Given the description of an element on the screen output the (x, y) to click on. 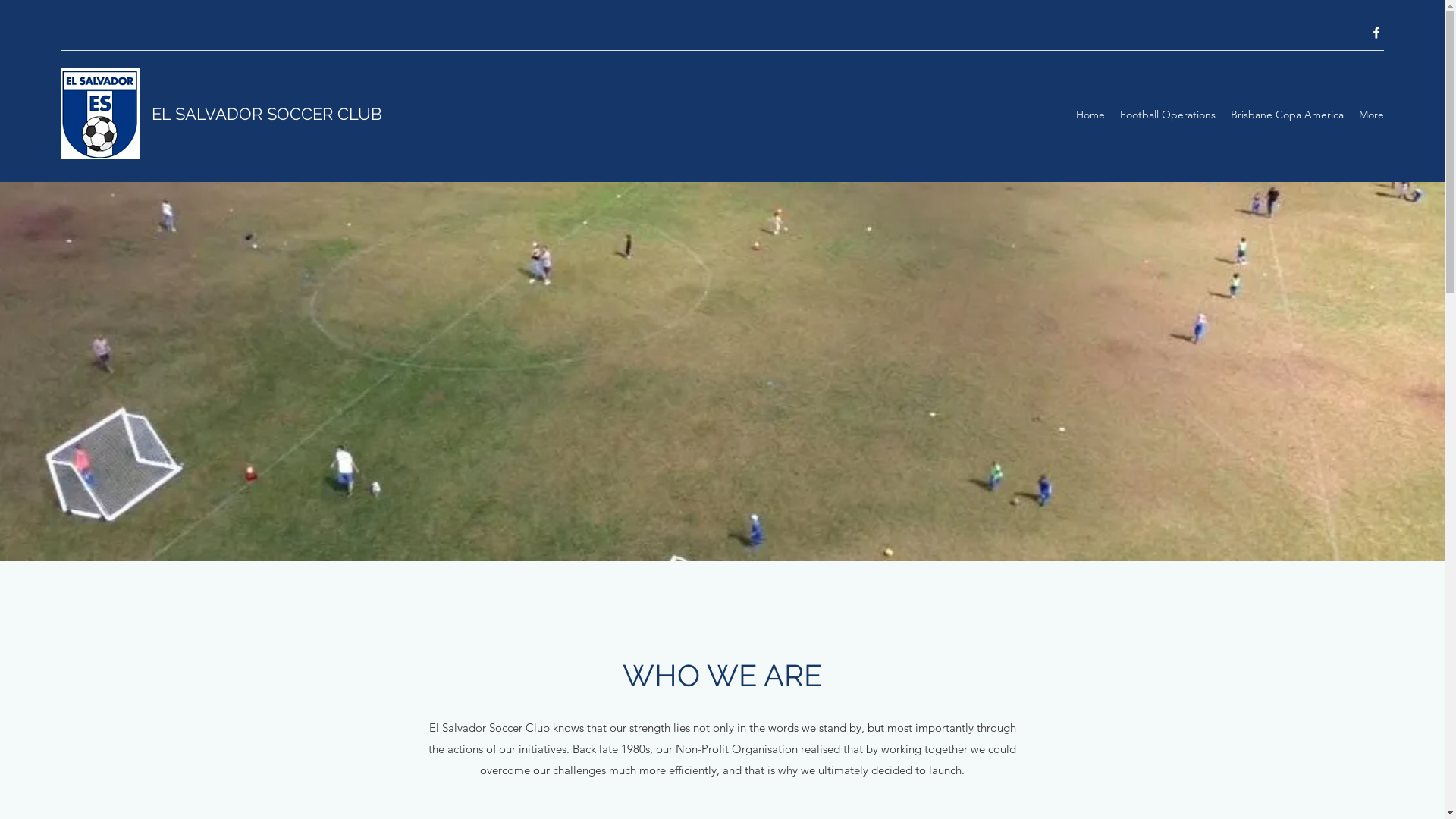
Home Element type: text (1090, 114)
Brisbane Copa America Element type: text (1287, 114)
EL SALVADOR SOCCER CLUB Element type: text (266, 113)
Football Operations Element type: text (1167, 114)
